Given the description of an element on the screen output the (x, y) to click on. 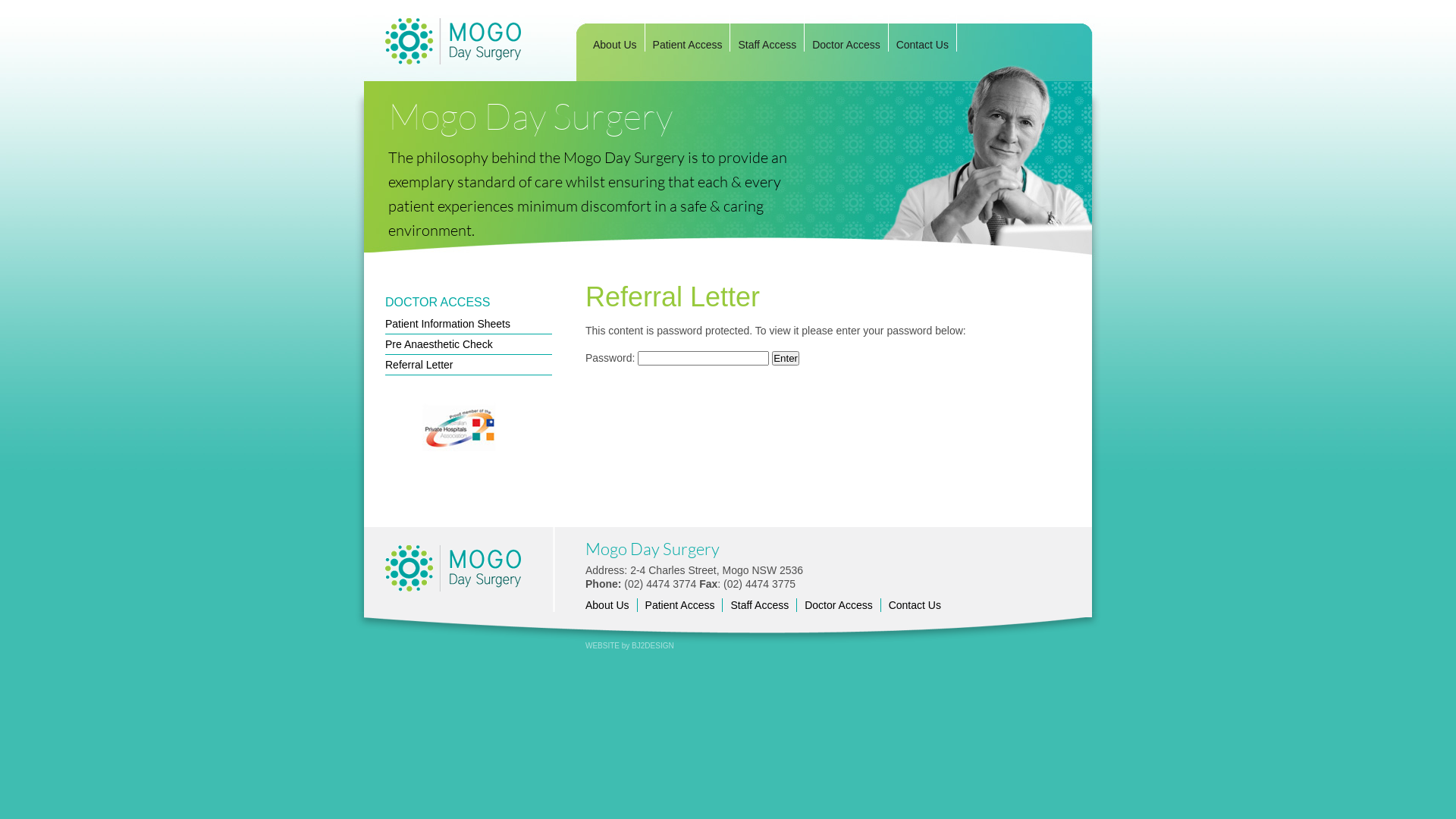
Patient Access Element type: text (687, 44)
Contact Us Element type: text (922, 44)
Patient Access Element type: text (680, 604)
About Us Element type: text (607, 604)
Enter Element type: text (785, 358)
About Us Element type: text (615, 44)
Pre Anaesthetic Check Element type: text (468, 345)
Staff Access Element type: text (766, 44)
Patient Information Sheets Element type: text (468, 325)
Referral Letter Element type: text (468, 366)
Staff Access Element type: text (759, 604)
DOCTOR ACCESS Element type: text (437, 301)
Doctor Access Element type: text (845, 44)
Mogo Day Surgery Element type: hover (469, 32)
Contact Us Element type: text (914, 604)
Doctor Access Element type: text (838, 604)
WEBSITE by BJ2DESIGN Element type: text (514, 645)
